Given the description of an element on the screen output the (x, y) to click on. 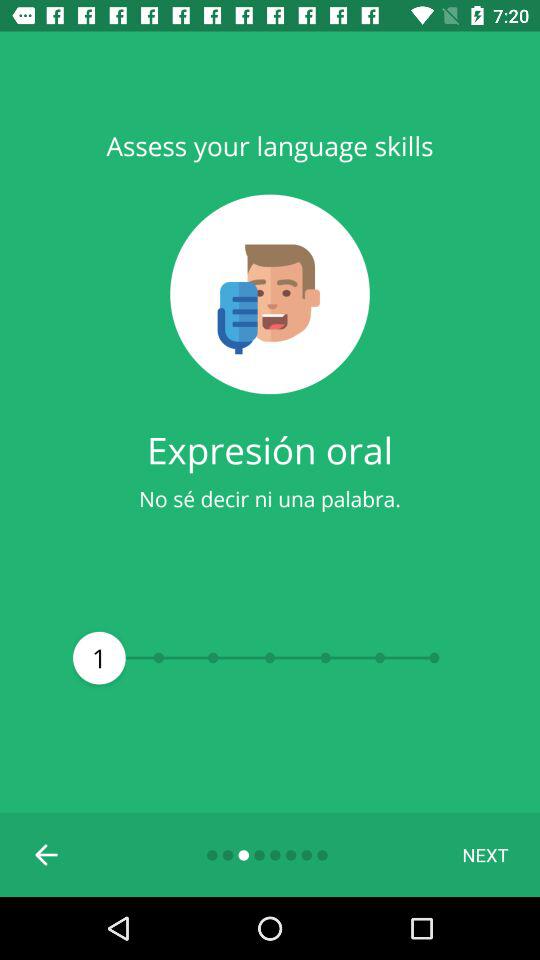
go back (47, 855)
